Given the description of an element on the screen output the (x, y) to click on. 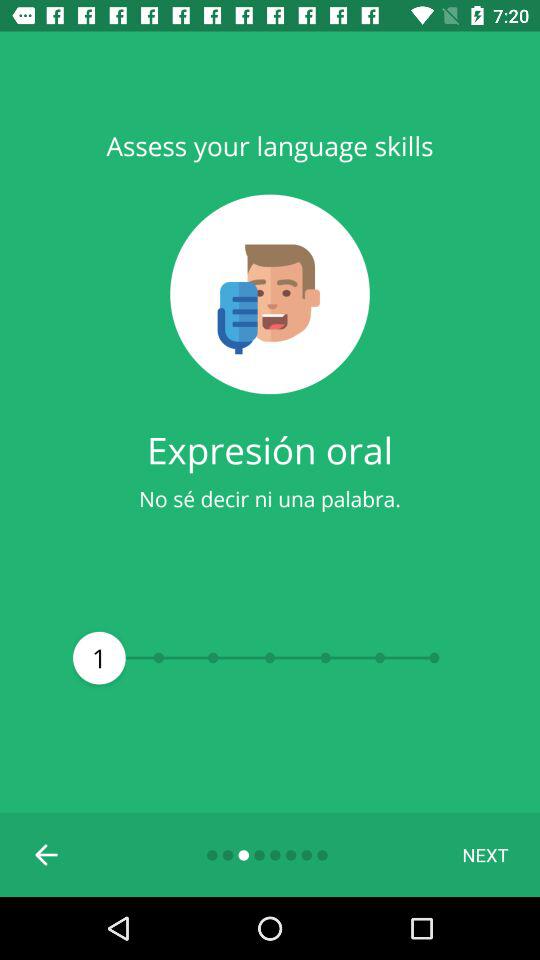
go back (47, 855)
